Given the description of an element on the screen output the (x, y) to click on. 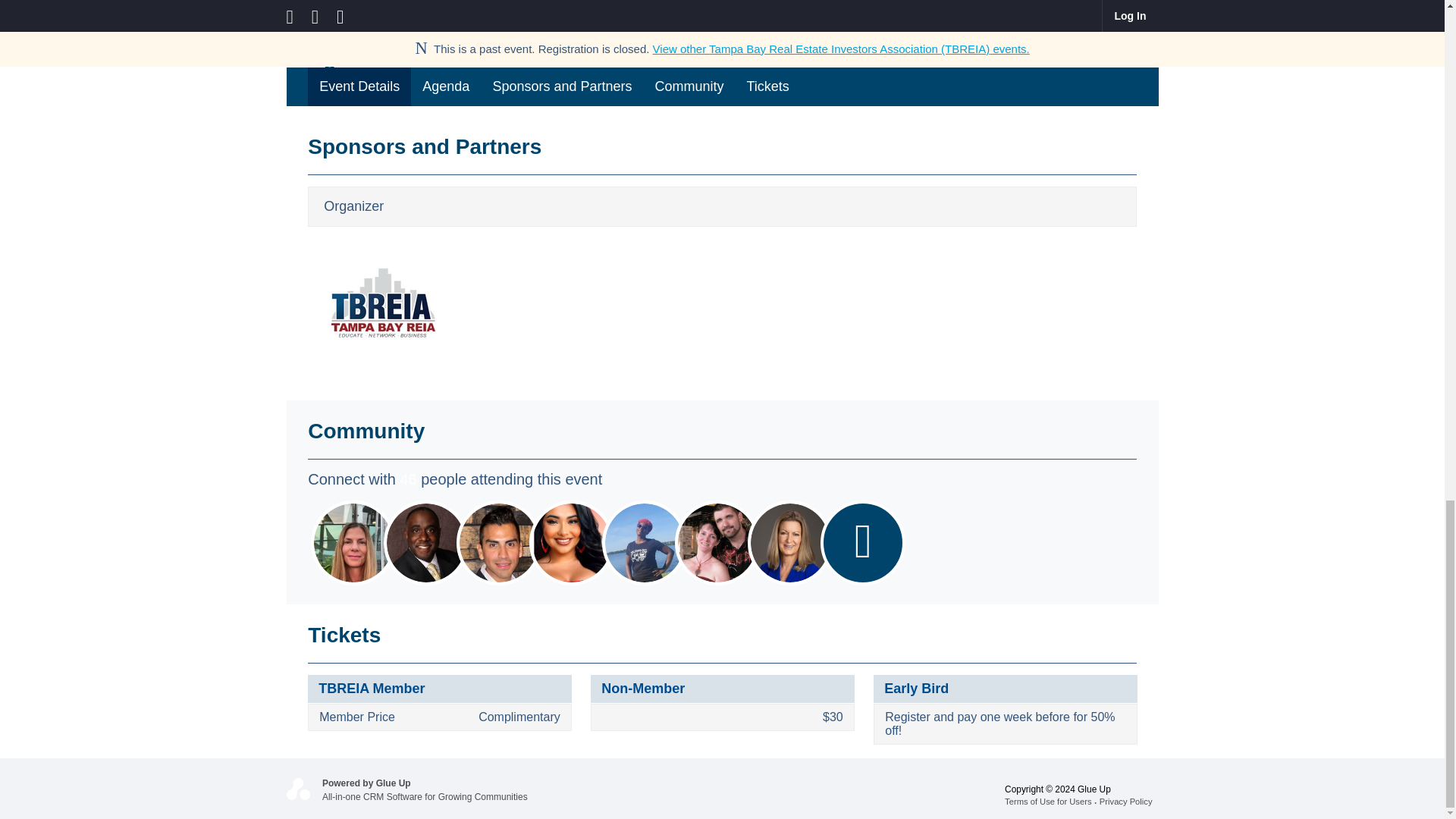
Terms of Use for Users (1051, 800)
Privacy Policy (1128, 800)
